Given the description of an element on the screen output the (x, y) to click on. 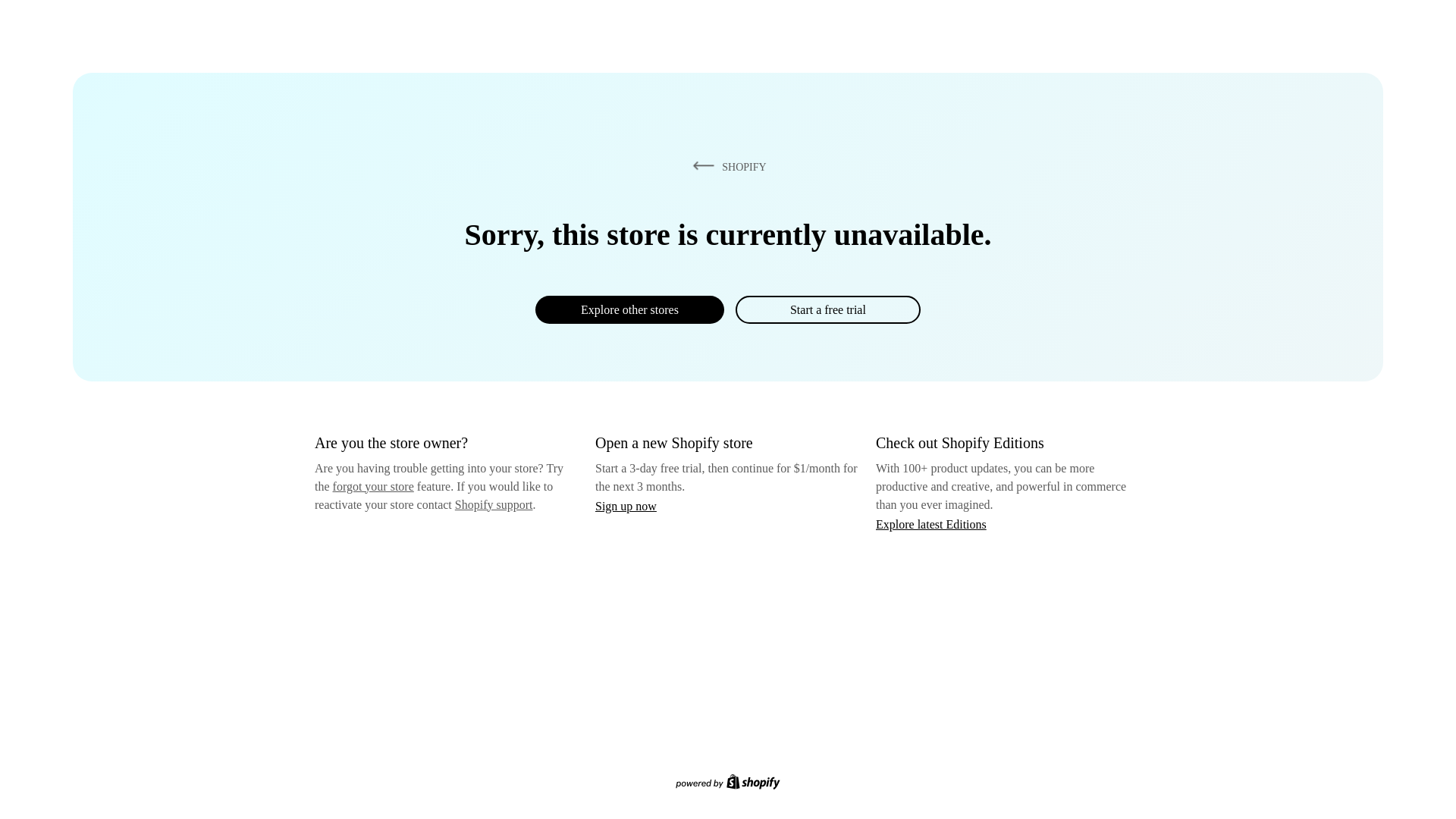
Start a free trial (827, 309)
Sign up now (625, 505)
Explore latest Editions (931, 523)
Shopify support (493, 504)
forgot your store (373, 486)
SHOPIFY (726, 166)
Explore other stores (629, 309)
